Given the description of an element on the screen output the (x, y) to click on. 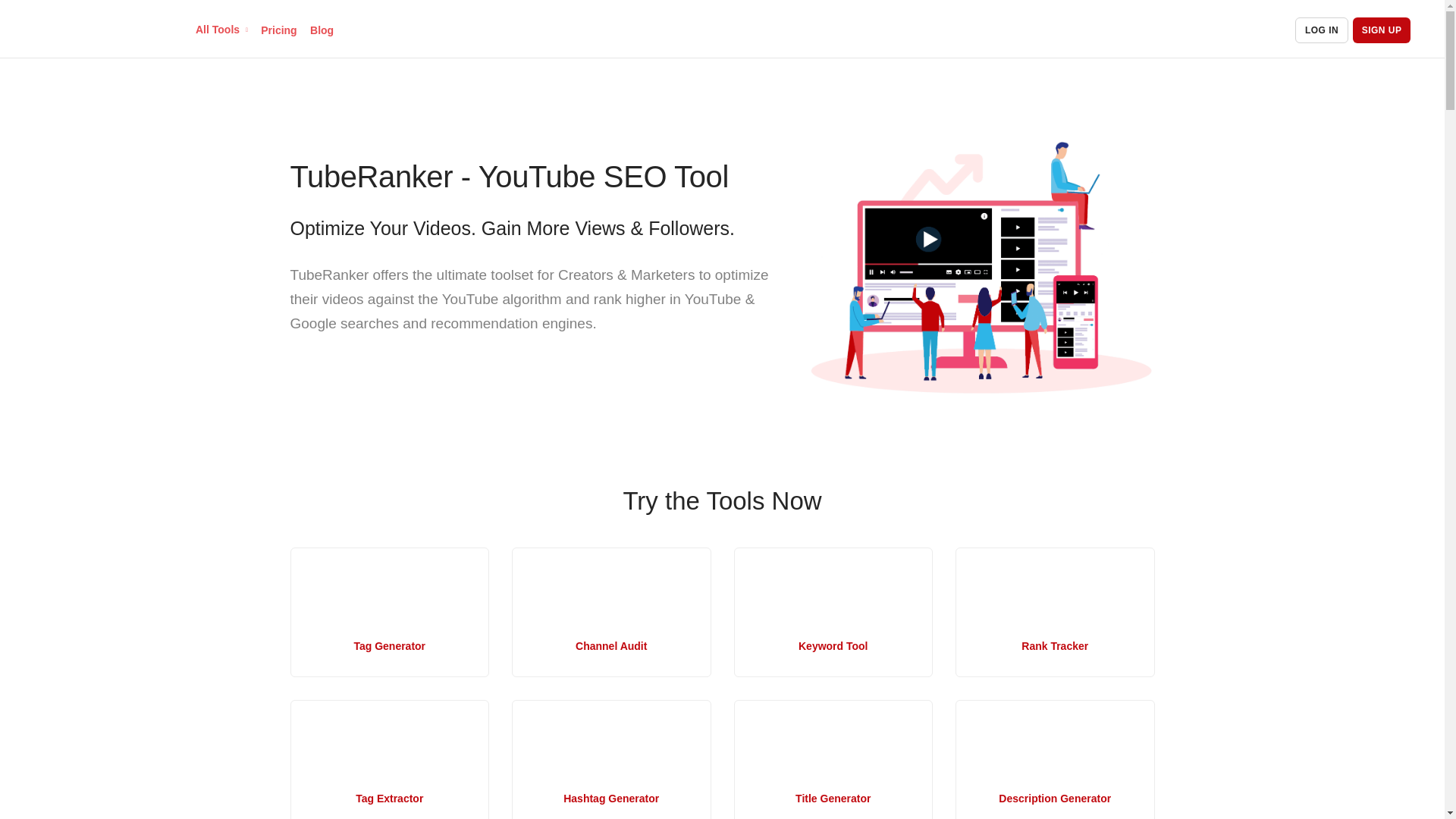
Tag Generator (389, 612)
Description Generator (1054, 759)
Hashtag Generator (611, 759)
Blog (321, 30)
SIGN UP (1381, 30)
Tag Extractor (389, 759)
Rank Tracker (1054, 612)
Pricing (278, 30)
Channel Audit (611, 612)
LOG IN (1321, 30)
